Given the description of an element on the screen output the (x, y) to click on. 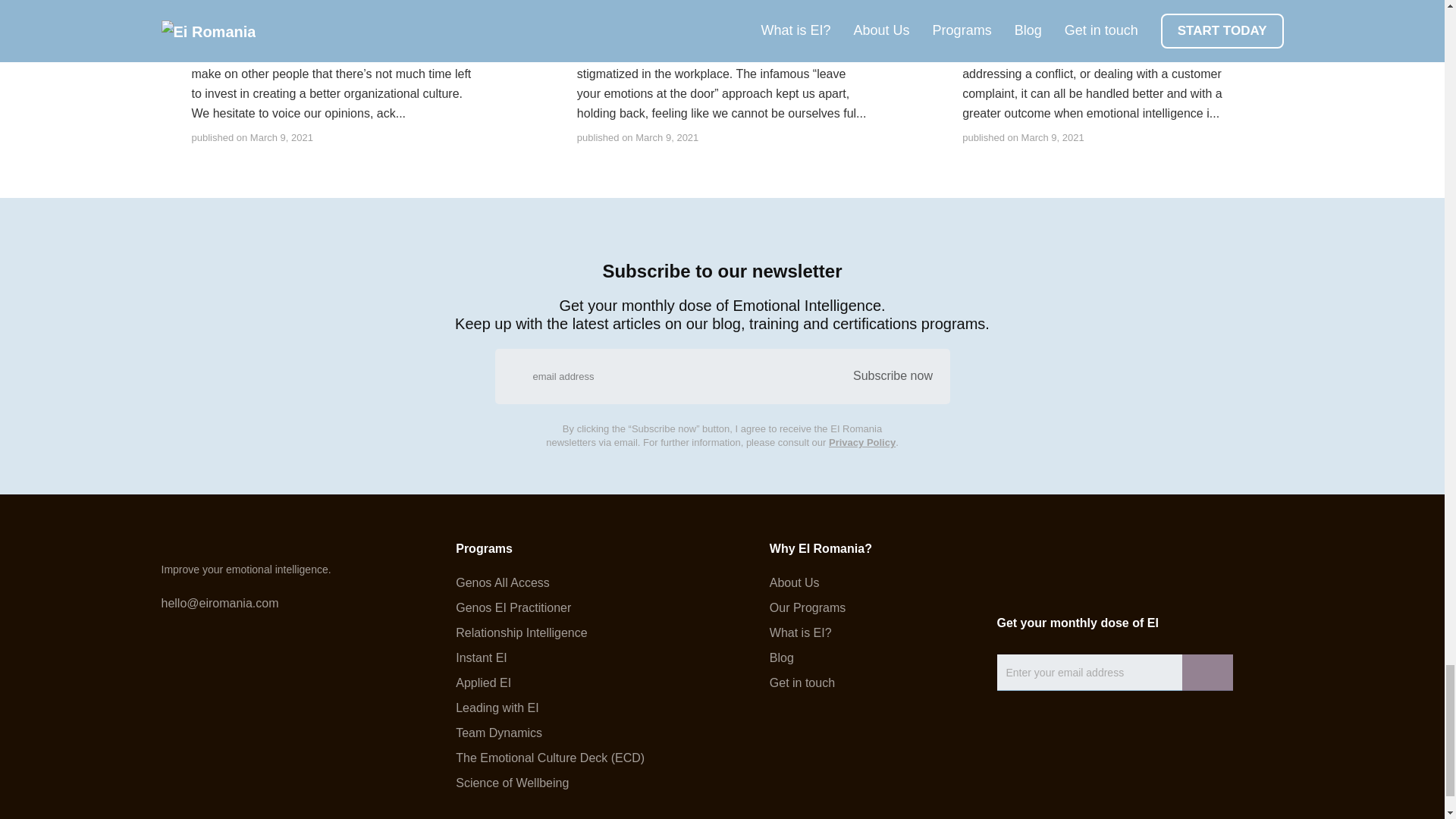
Applied EI (550, 683)
Leading with EI (550, 707)
Genos All Access (550, 582)
Genos EI Practitioner (550, 607)
EI Myths in the workspace (709, 2)
Privacy Policy (861, 441)
Relationship Intelligence (550, 633)
Why it pays off to invest in EI company-wide (1107, 7)
Subscribe now (892, 375)
Team Dynamics (550, 733)
